Given the description of an element on the screen output the (x, y) to click on. 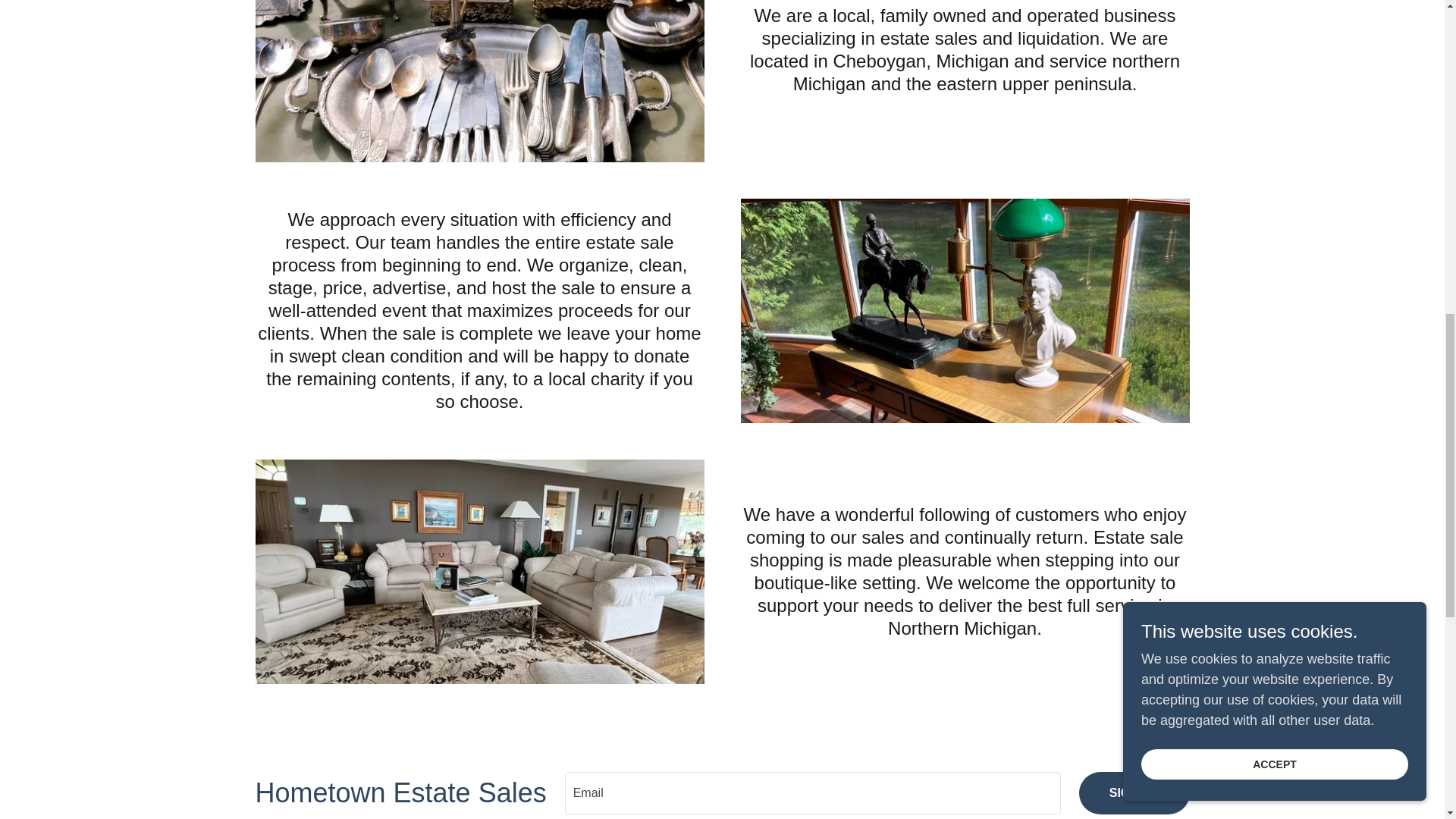
SIGN UP (1133, 793)
